Given the description of an element on the screen output the (x, y) to click on. 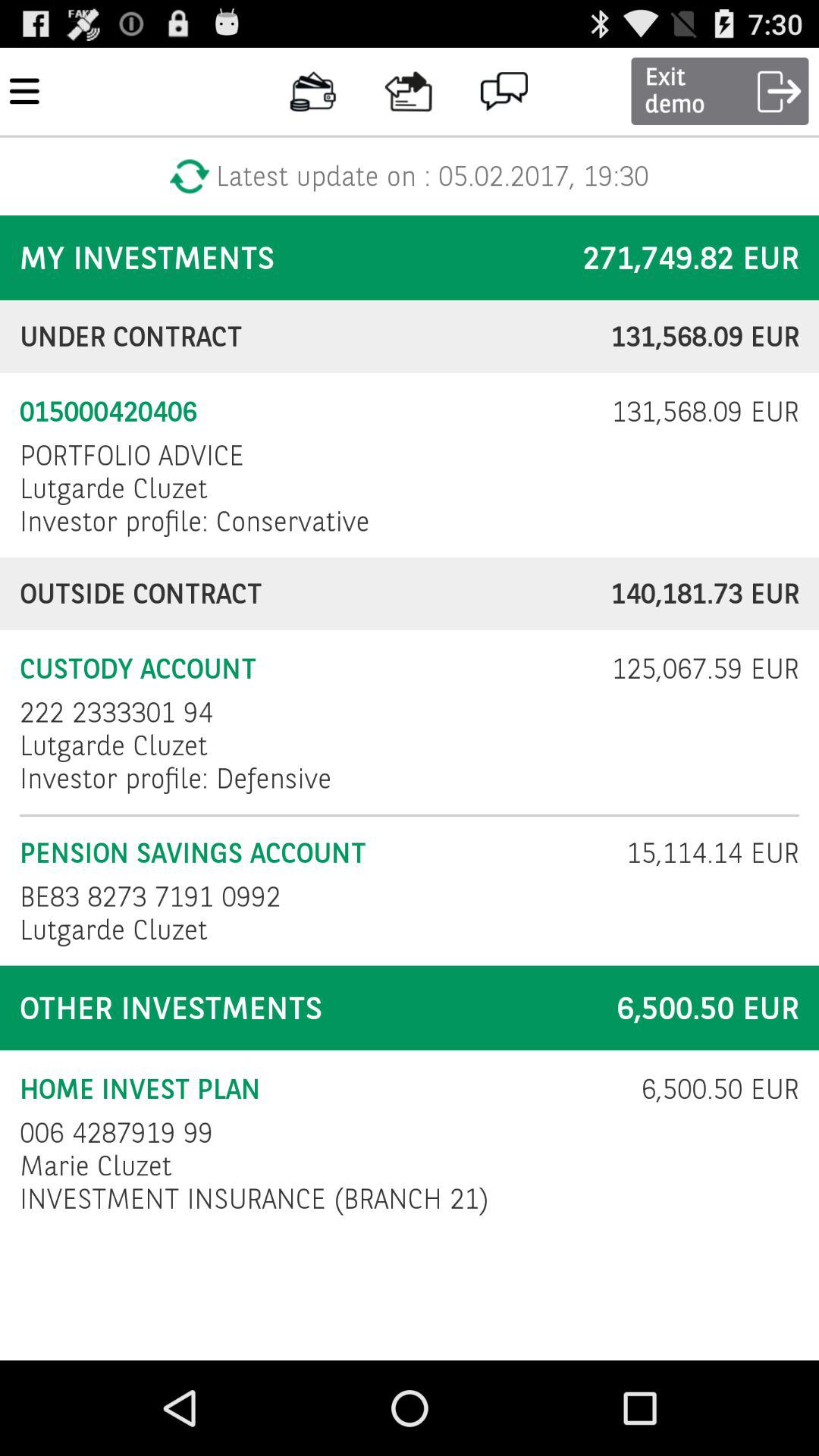
tap 006 4287919 99 (116, 1132)
